Given the description of an element on the screen output the (x, y) to click on. 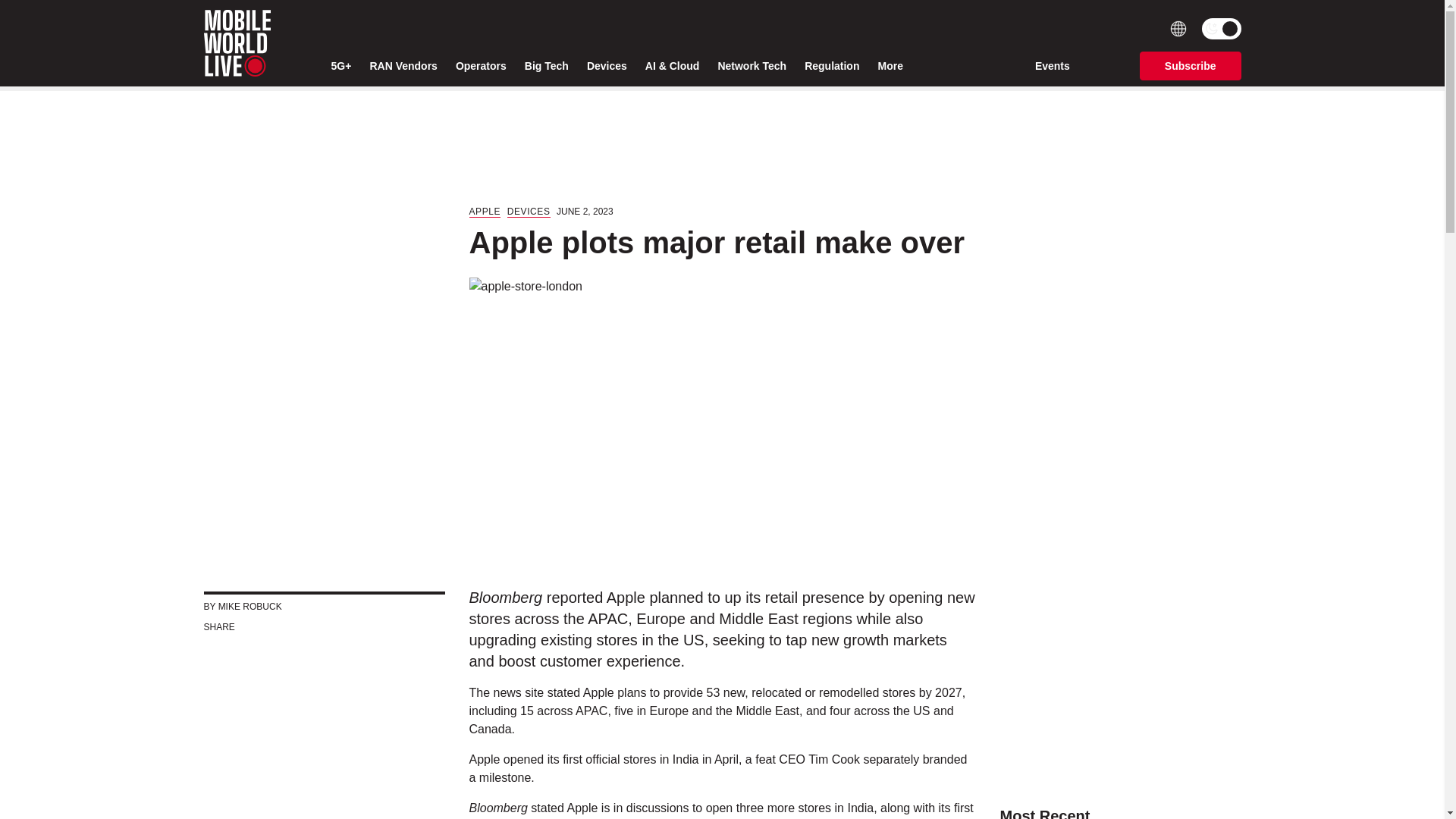
Subscribe (1190, 65)
Operators (480, 65)
Network Tech (751, 65)
Devices (606, 65)
Big Tech (546, 65)
RAN Vendors (402, 65)
Regulation (832, 65)
More (892, 65)
Events (1052, 65)
